Given the description of an element on the screen output the (x, y) to click on. 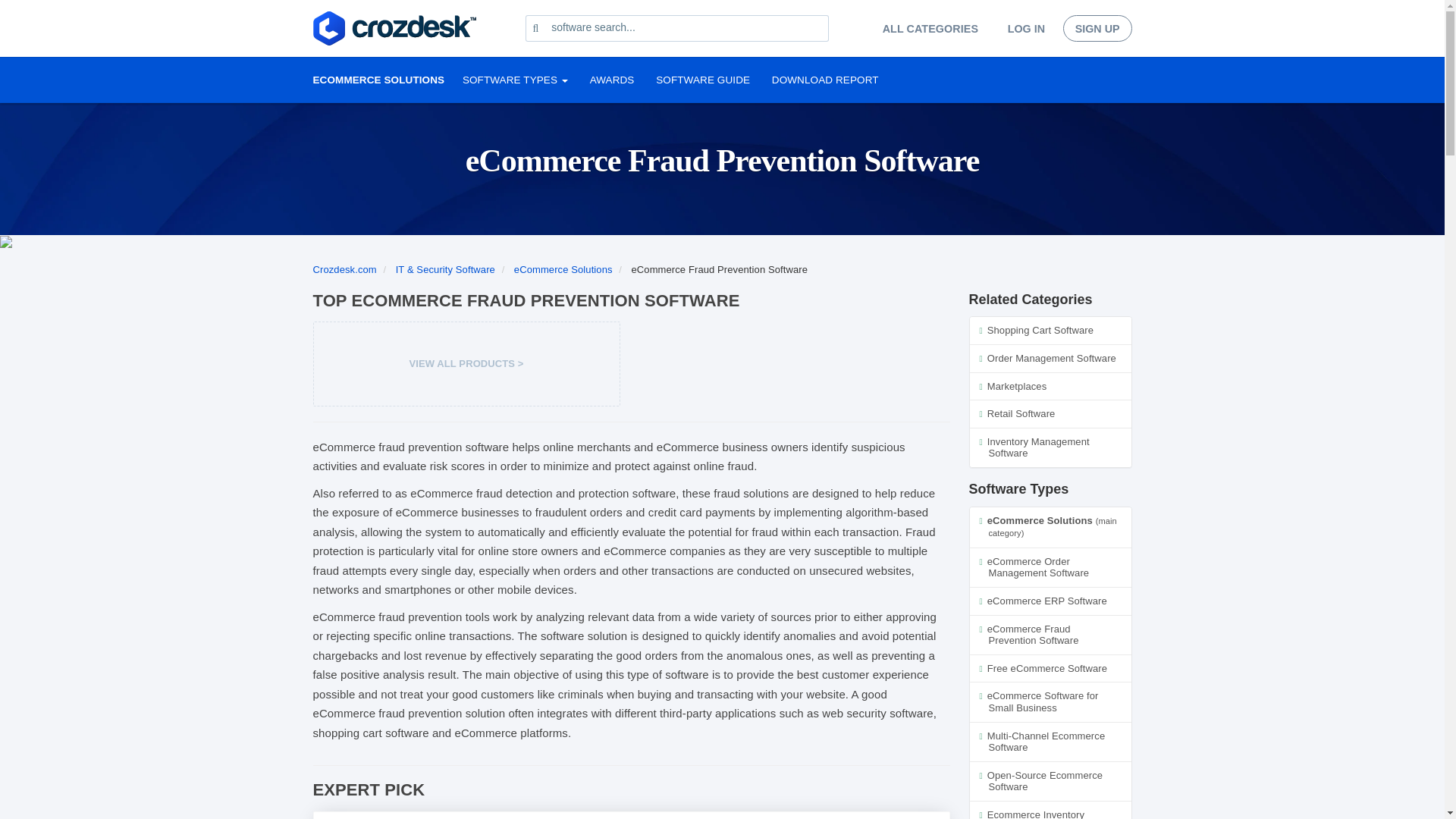
Marketplaces (1050, 386)
eCommerce Fraud Prevention Software (1050, 635)
Free eCommerce Software (1050, 668)
Multi-Channel Ecommerce Software (1050, 741)
Crozdesk.com (345, 269)
eCommerce Software for Small Business (1050, 701)
eCommerce Solutions (564, 269)
eCommerce Order Management Software (1050, 567)
Crozdesk.com (345, 269)
Shopping Cart Software (1050, 330)
